Given the description of an element on the screen output the (x, y) to click on. 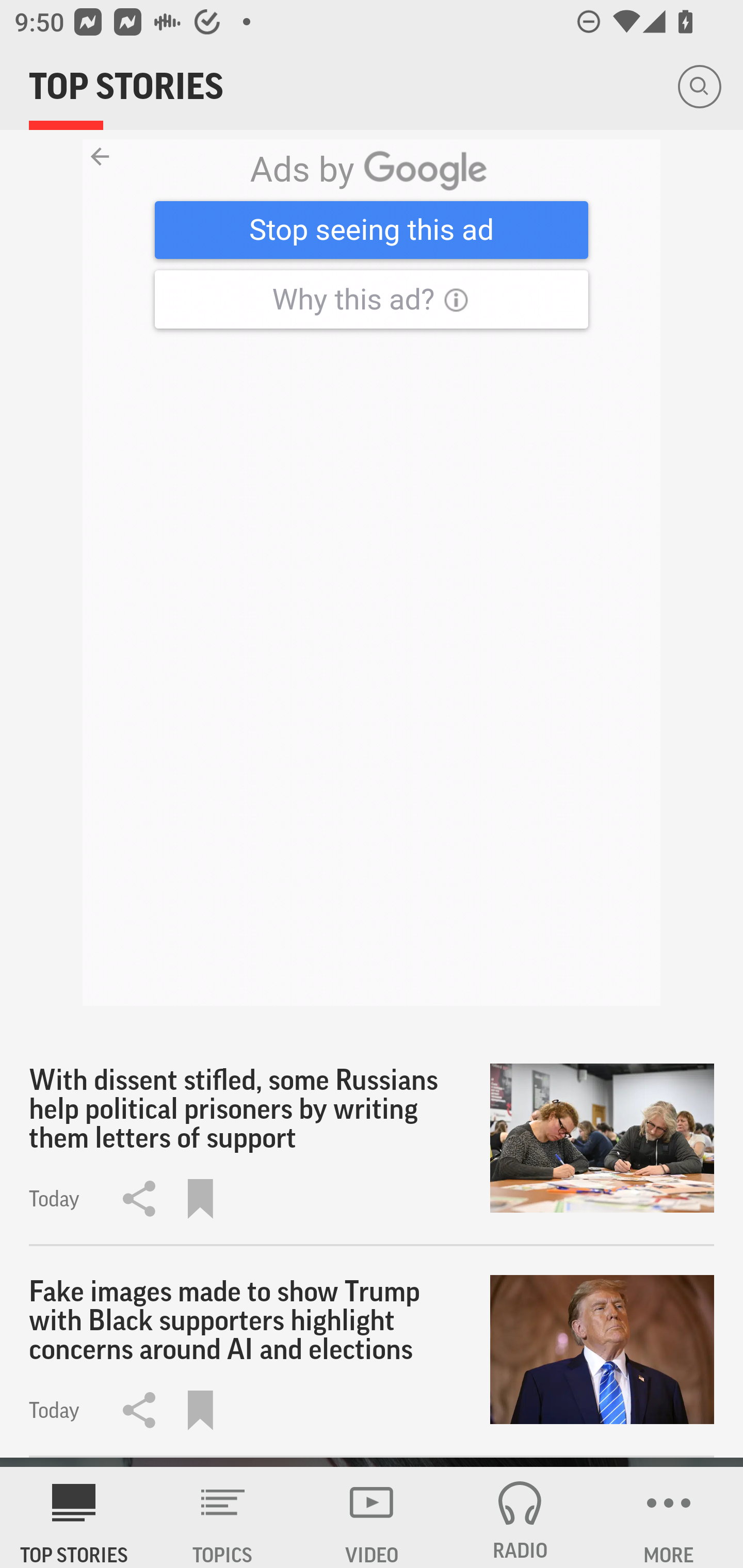
about (371, 572)
AP News TOP STORIES (74, 1517)
TOPICS (222, 1517)
VIDEO (371, 1517)
RADIO (519, 1517)
MORE (668, 1517)
